Given the description of an element on the screen output the (x, y) to click on. 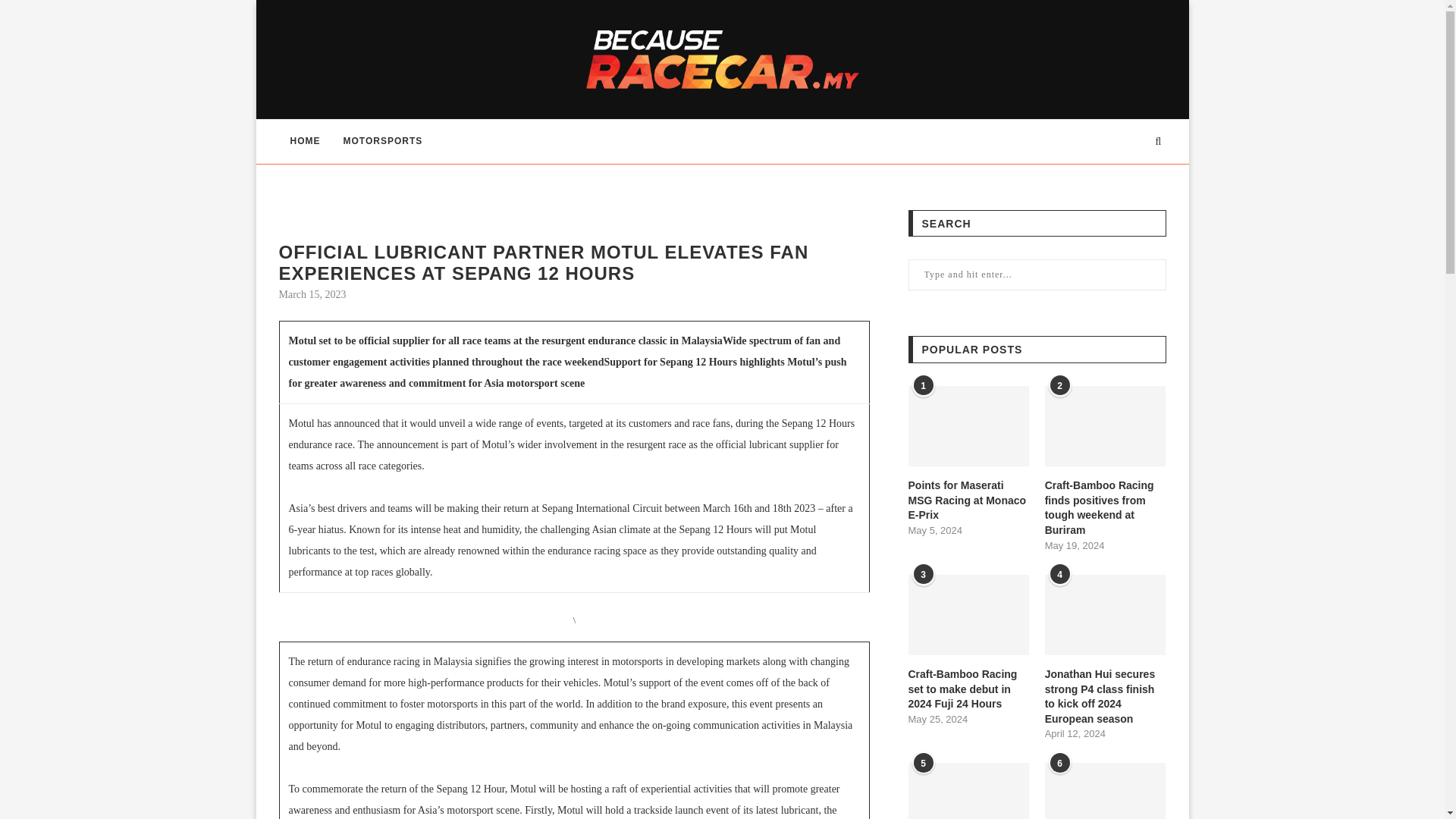
MOTORSPORTS (382, 141)
HOME (305, 141)
